Given the description of an element on the screen output the (x, y) to click on. 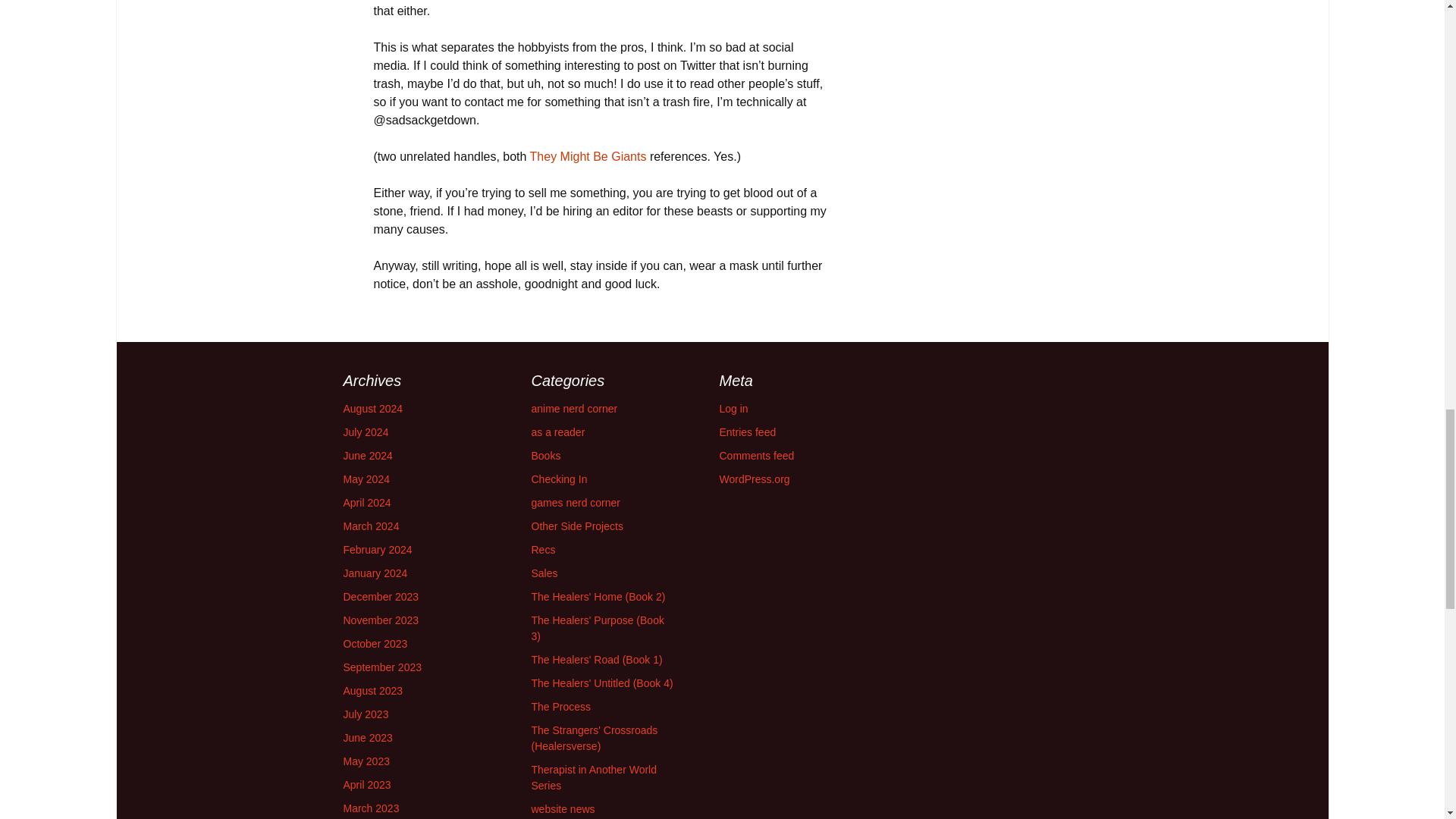
March 2023 (370, 808)
July 2023 (365, 714)
July 2024 (365, 431)
November 2023 (380, 620)
February 2024 (377, 549)
April 2023 (366, 784)
Be Giants (619, 155)
March 2024 (370, 526)
August 2024 (372, 408)
January 2024 (374, 573)
